Given the description of an element on the screen output the (x, y) to click on. 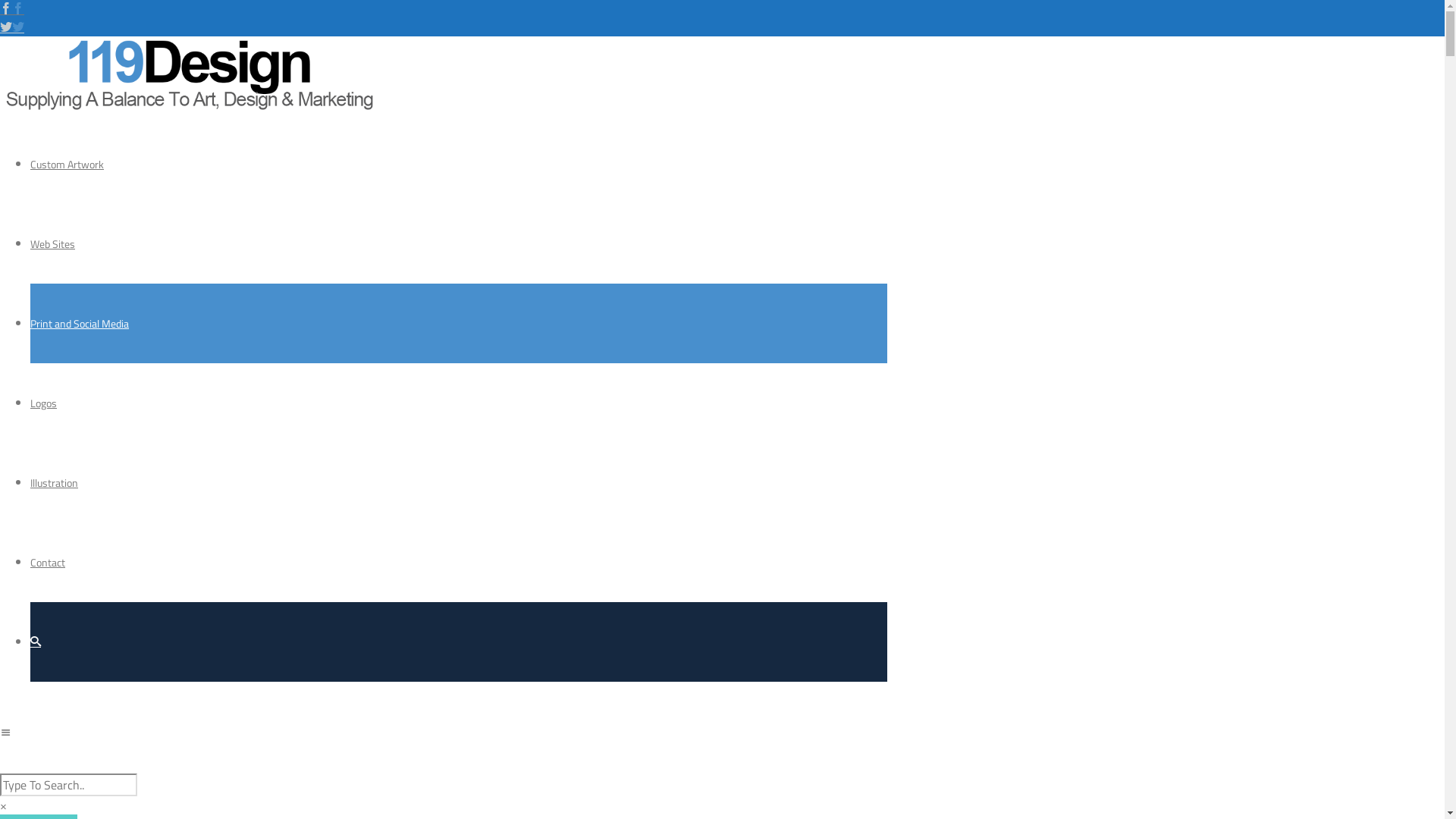
Logos Element type: text (43, 403)
Illustration Element type: text (54, 482)
Print and Social Media Element type: text (79, 323)
119Design Element type: hover (189, 107)
Custom Artwork Element type: text (66, 164)
Contact Element type: text (47, 562)
Web Sites Element type: text (52, 243)
